Given the description of an element on the screen output the (x, y) to click on. 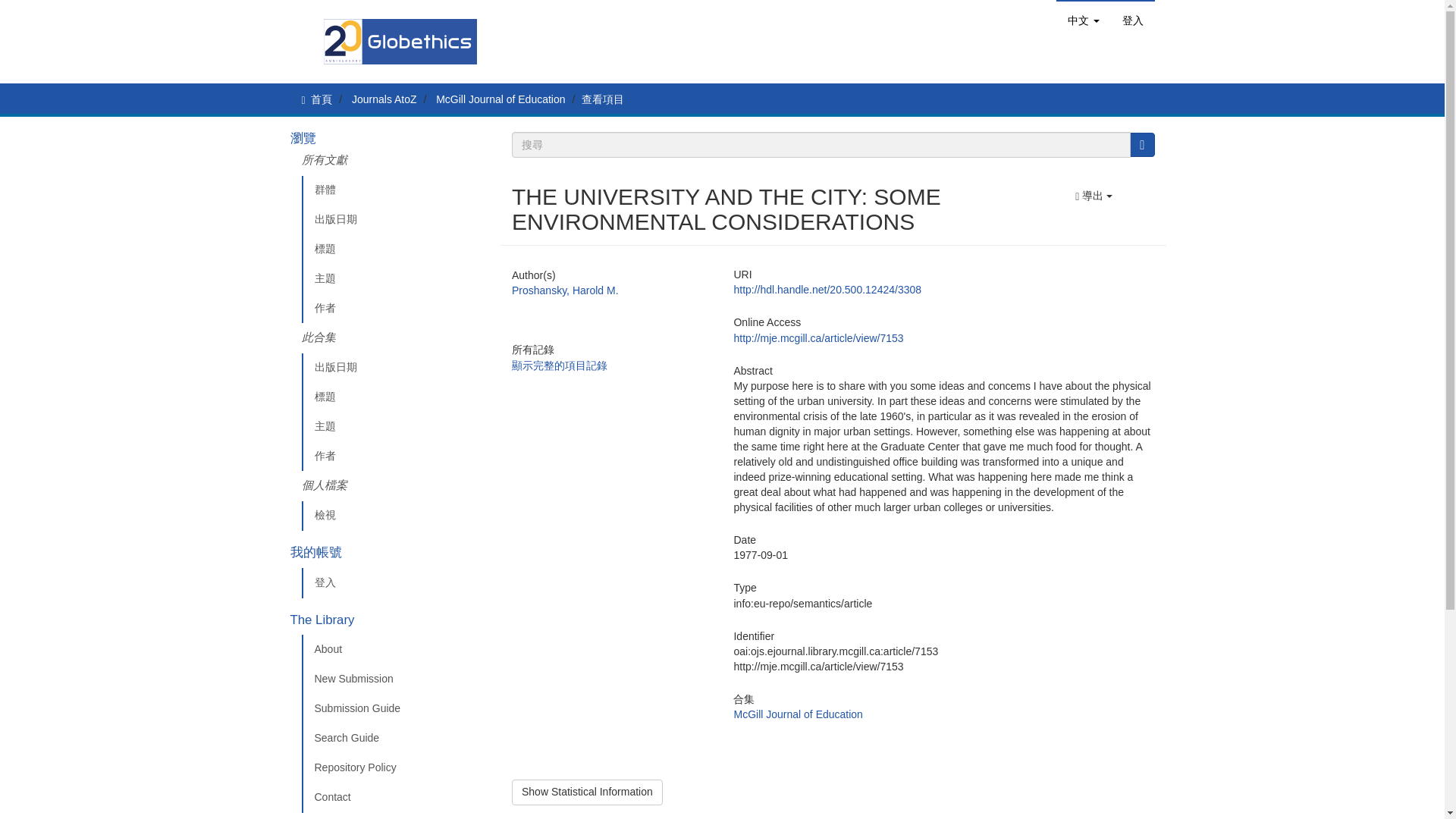
McGill Journal of Education (499, 99)
Journals AtoZ (384, 99)
